Given the description of an element on the screen output the (x, y) to click on. 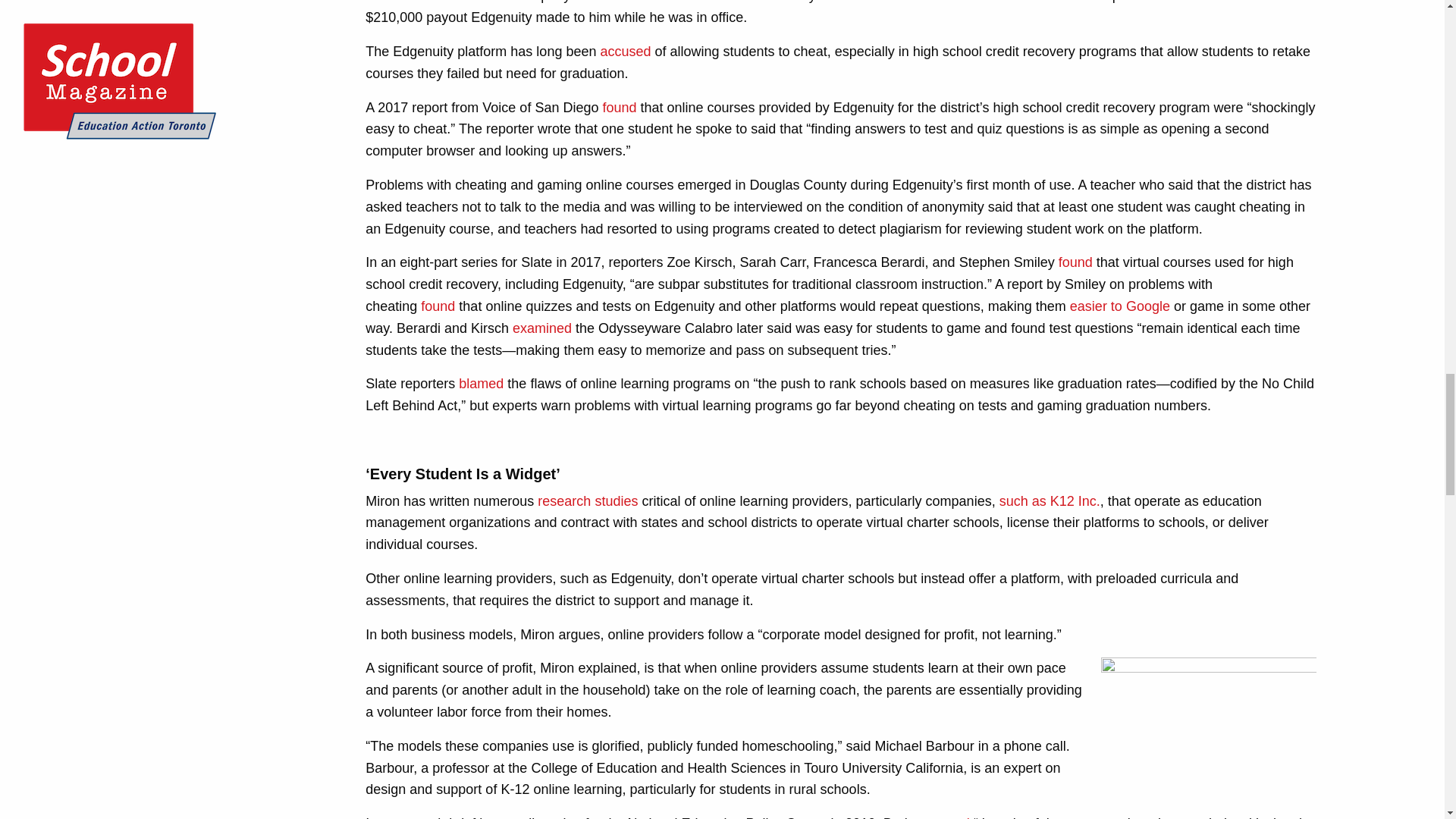
recent conviction (923, 1)
found (619, 107)
found (437, 305)
accused (624, 51)
easier to Google (1120, 305)
found (1075, 262)
